Given the description of an element on the screen output the (x, y) to click on. 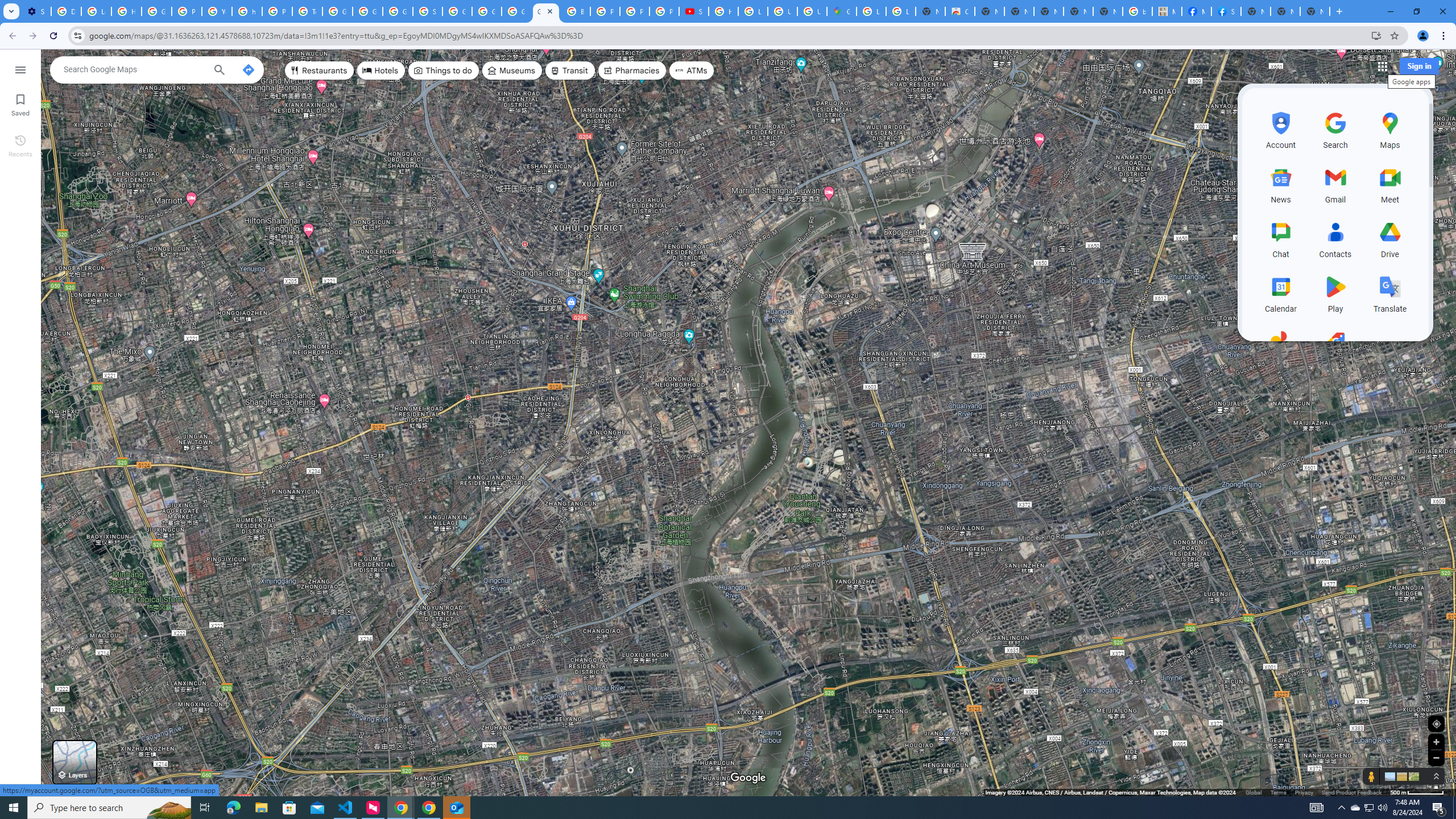
Recents (20, 145)
Zoom in (1436, 741)
Blogger Policies and Guidelines - Transparency Center (575, 11)
